Given the description of an element on the screen output the (x, y) to click on. 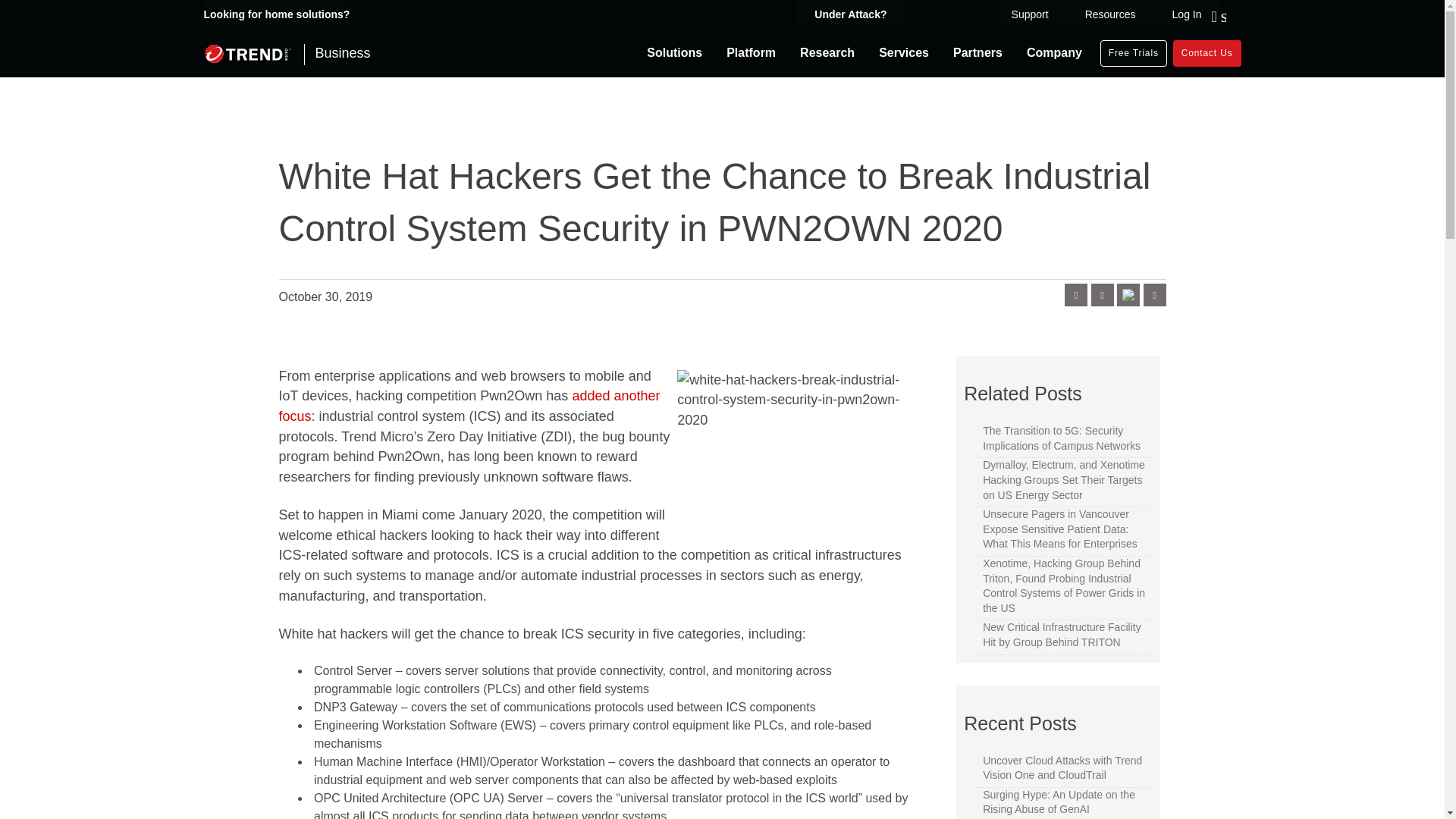
Business (286, 53)
